Given the description of an element on the screen output the (x, y) to click on. 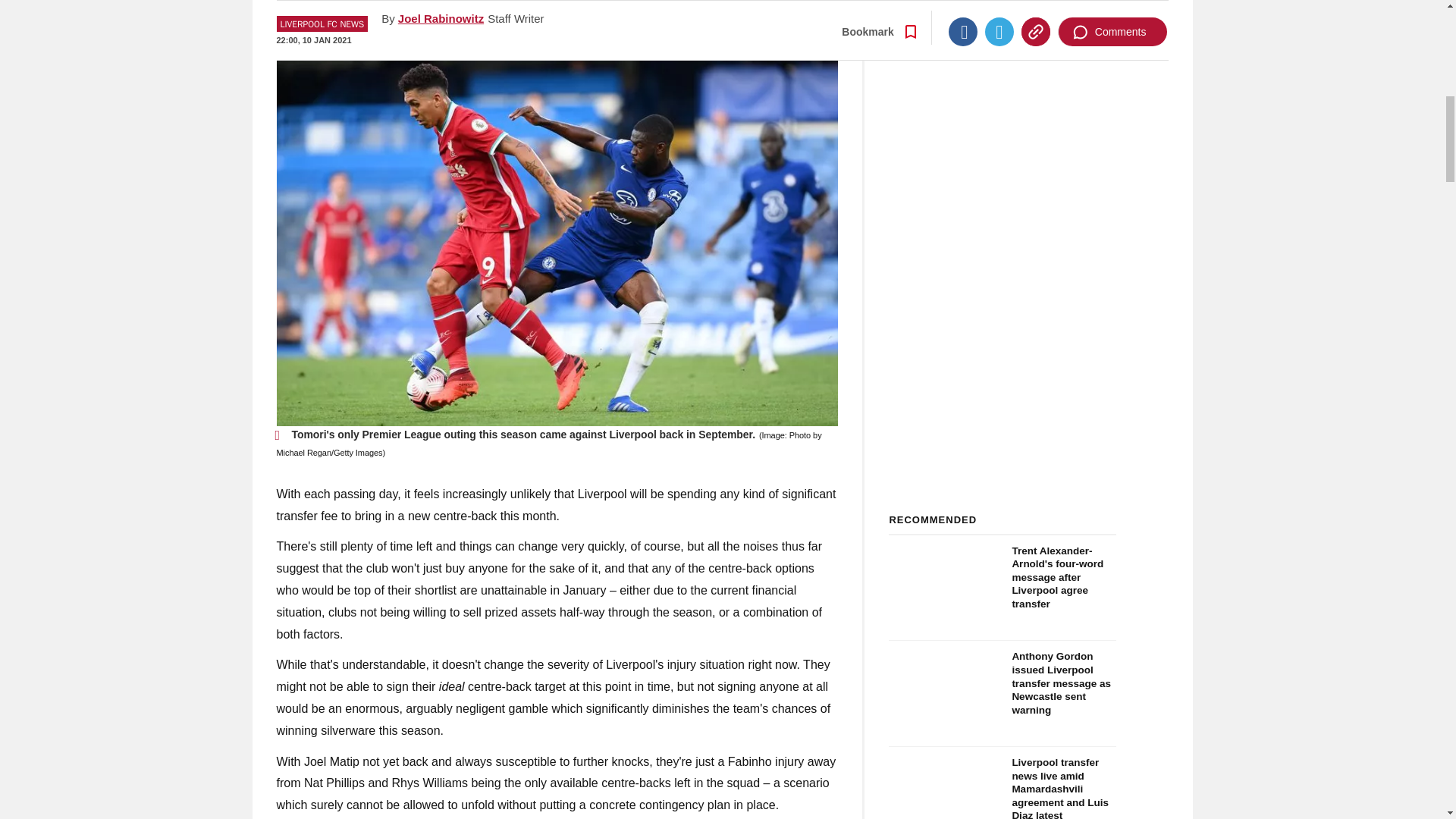
Facebook (962, 10)
Twitter (999, 10)
Comments (1112, 10)
